Given the description of an element on the screen output the (x, y) to click on. 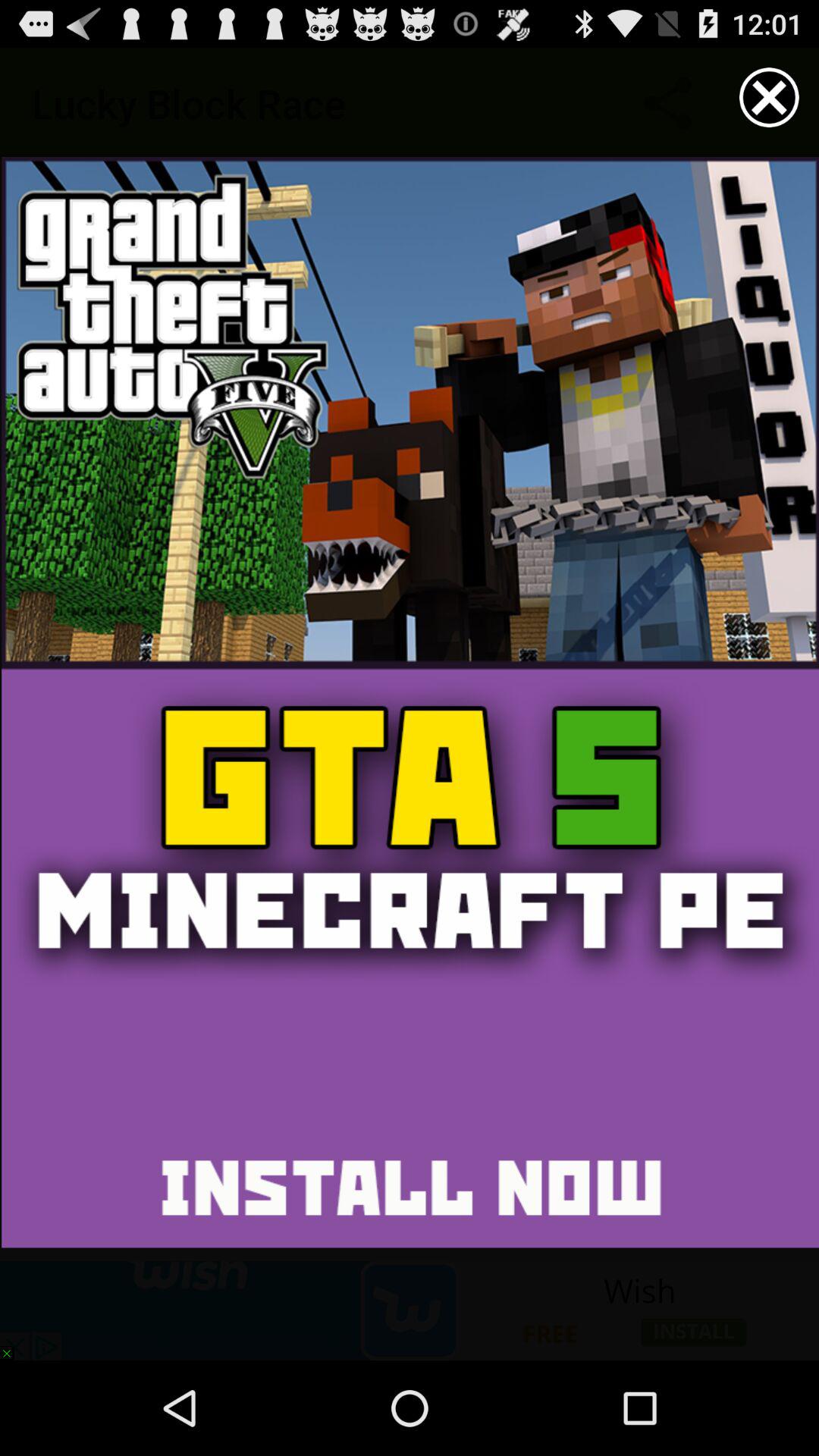
go to close button (769, 97)
